Given the description of an element on the screen output the (x, y) to click on. 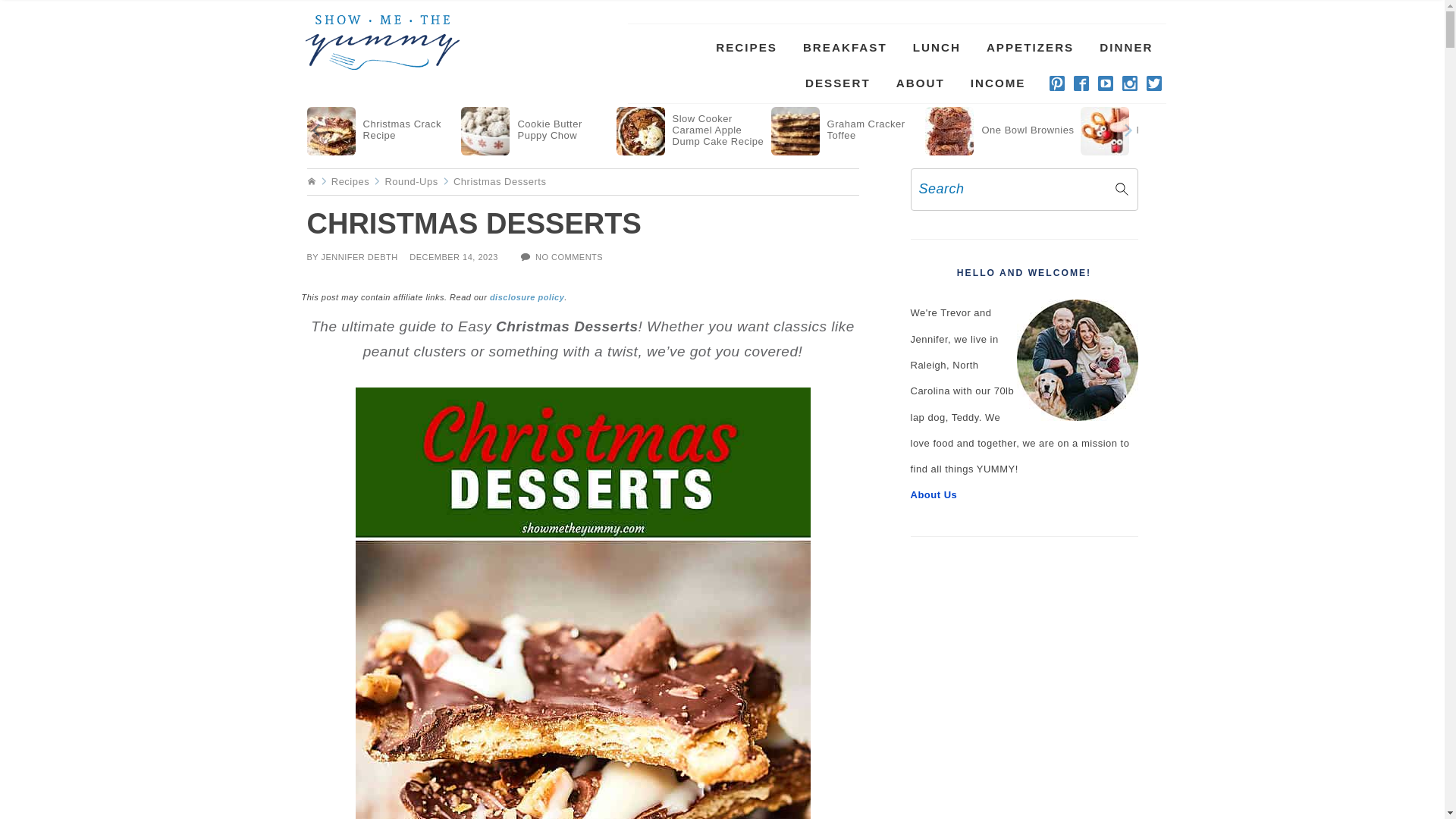
ABOUT (920, 82)
DINNER (1126, 47)
One Bowl Brownies (999, 128)
Slow Cooker Caramel Apple Dump Cake Recipe (691, 128)
DESSERT (837, 82)
LUNCH (936, 47)
Cookie Butter Puppy Chow (536, 128)
Show Me the Yummy (381, 42)
Christmas Crack Recipe (382, 128)
Reindeer Pretzels (1155, 128)
INCOME (998, 82)
APPETIZERS (1030, 47)
